Given the description of an element on the screen output the (x, y) to click on. 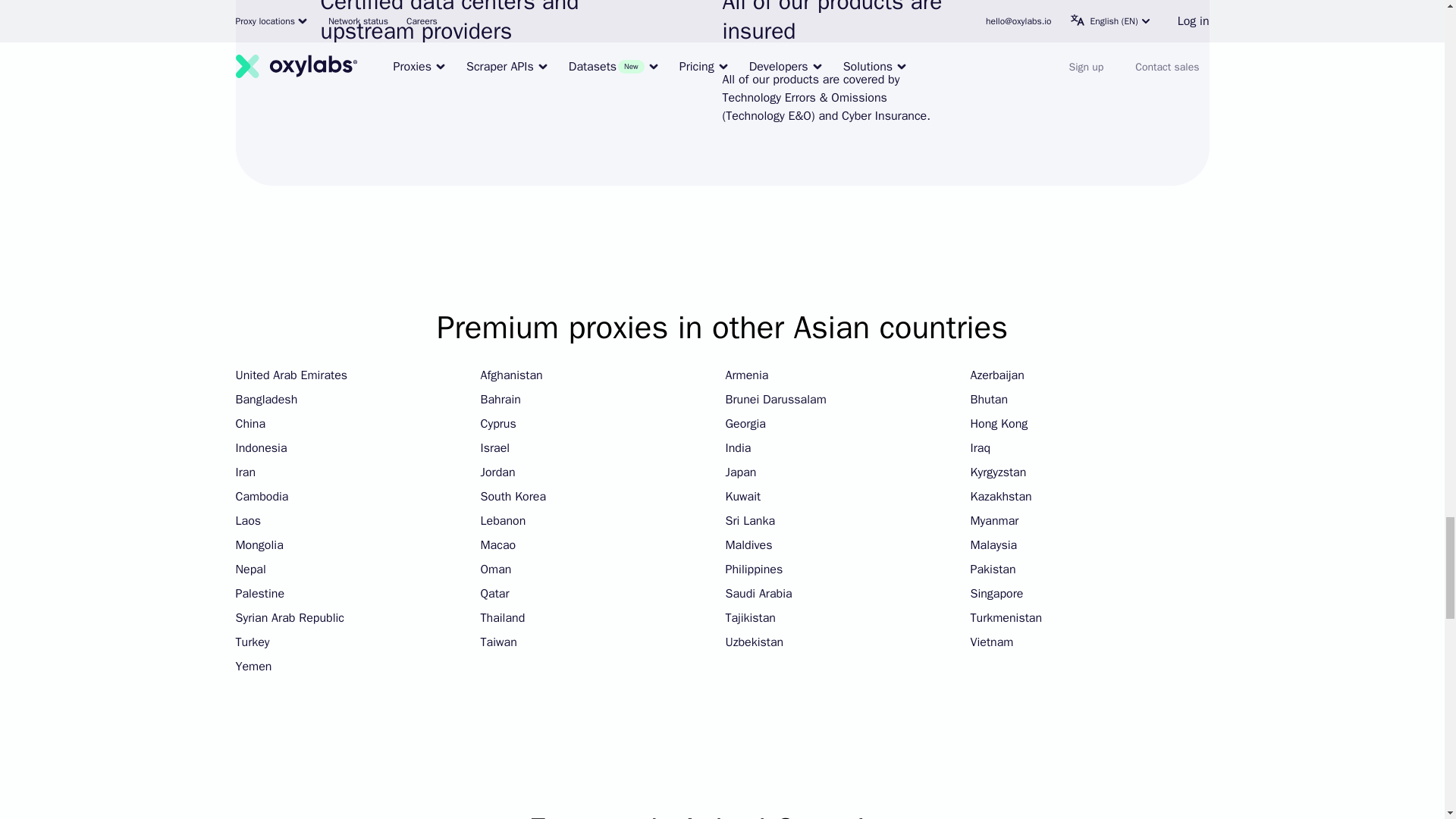
China (249, 424)
Azerbaijan (998, 375)
Bhutan (990, 399)
Bahrain (500, 399)
Bangladesh (265, 399)
Cyprus (498, 424)
United Arab Emirates (290, 375)
Brunei Darussalam (775, 399)
Afghanistan (511, 375)
Armenia (746, 375)
